Given the description of an element on the screen output the (x, y) to click on. 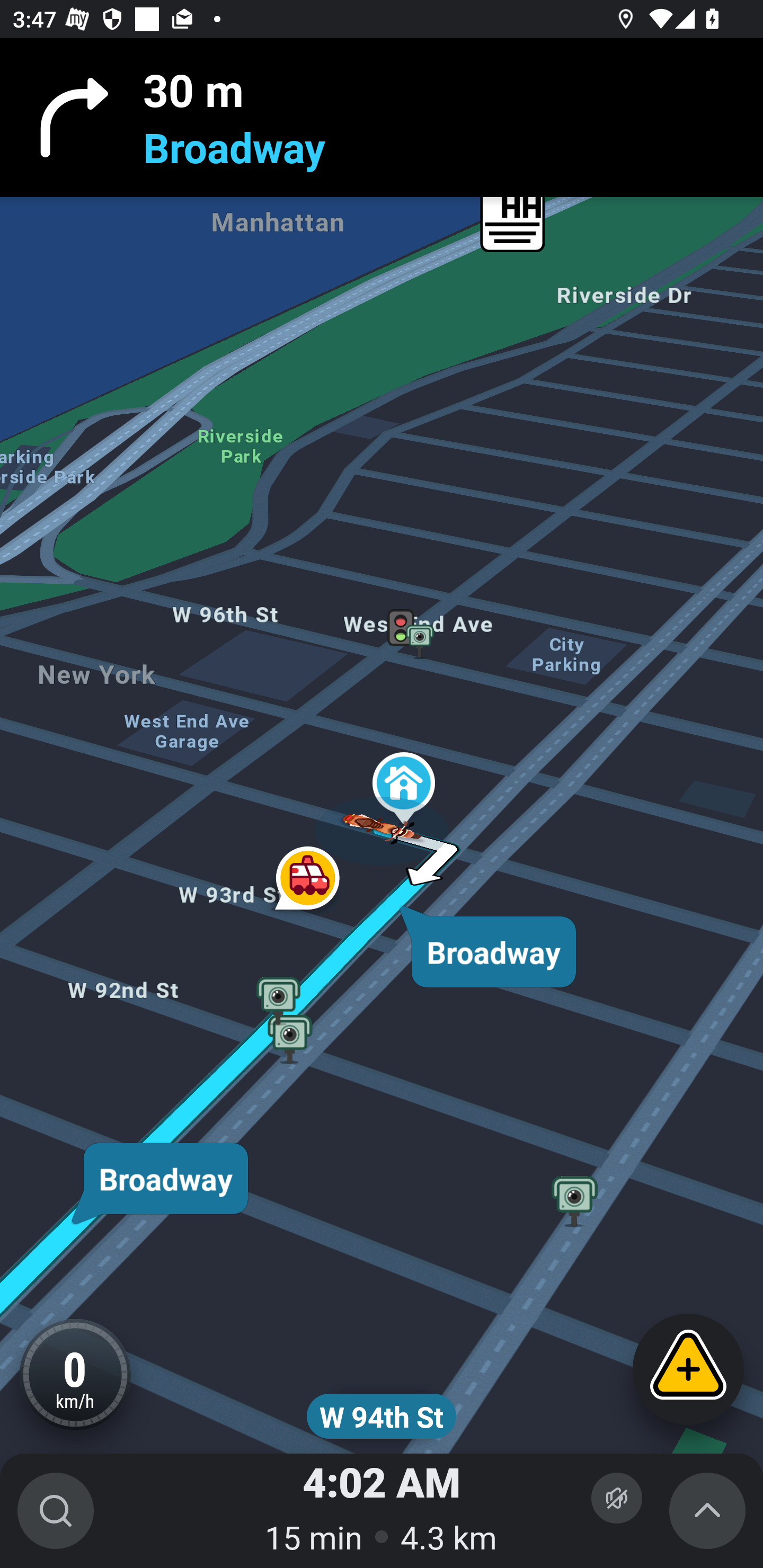
30 m Broadway (381, 117)
4:02 AM 15 min 4.3 km (381, 1510)
